Given the description of an element on the screen output the (x, y) to click on. 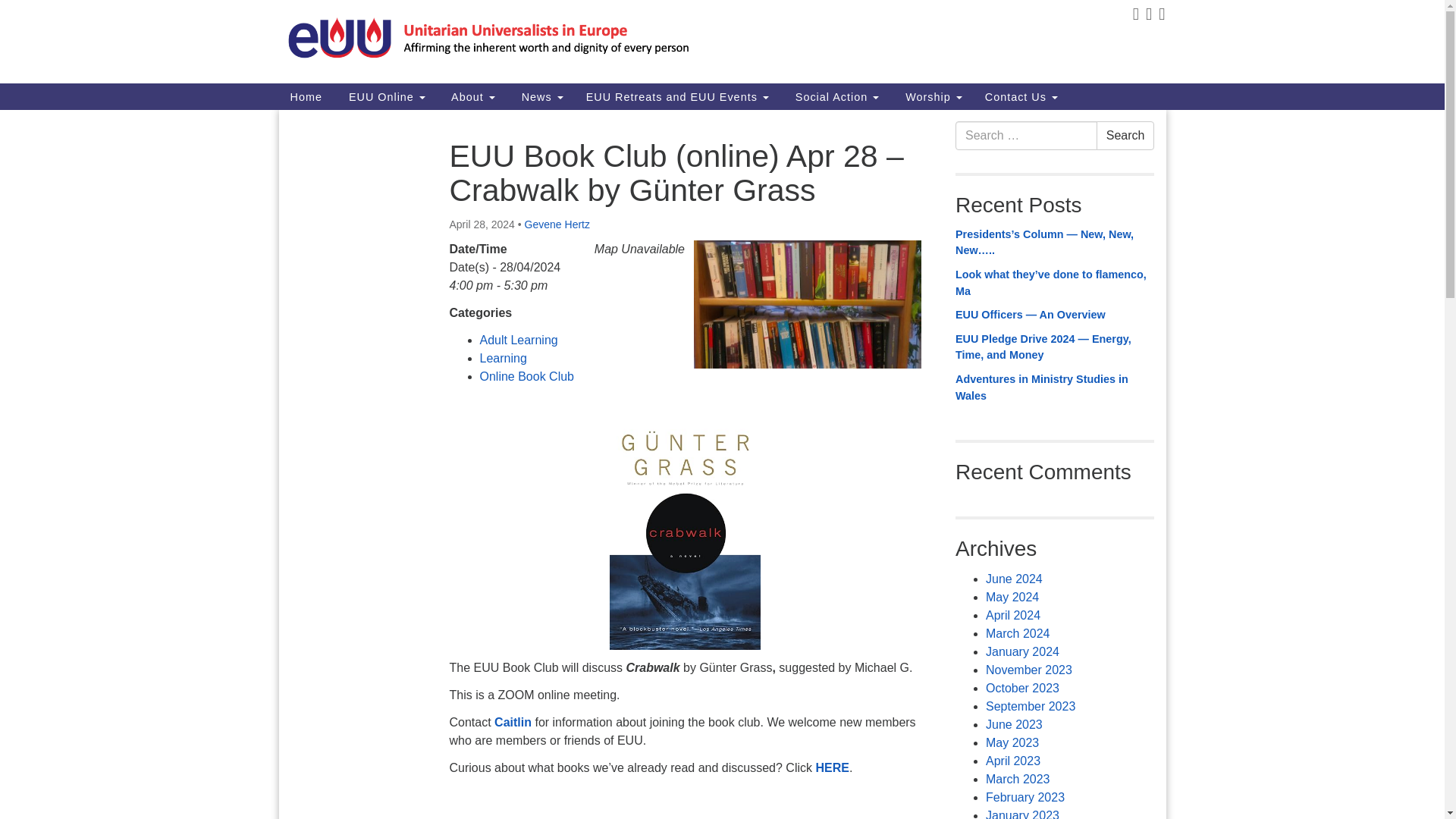
EUU Online (384, 96)
YOUTUBE (1161, 16)
 About (471, 96)
 EUU Online (384, 96)
TWITTER (1147, 16)
About (471, 96)
FACEBOOK (1134, 16)
EUU Retreats and EUU Events (677, 96)
 News (540, 96)
Home (306, 96)
